Given the description of an element on the screen output the (x, y) to click on. 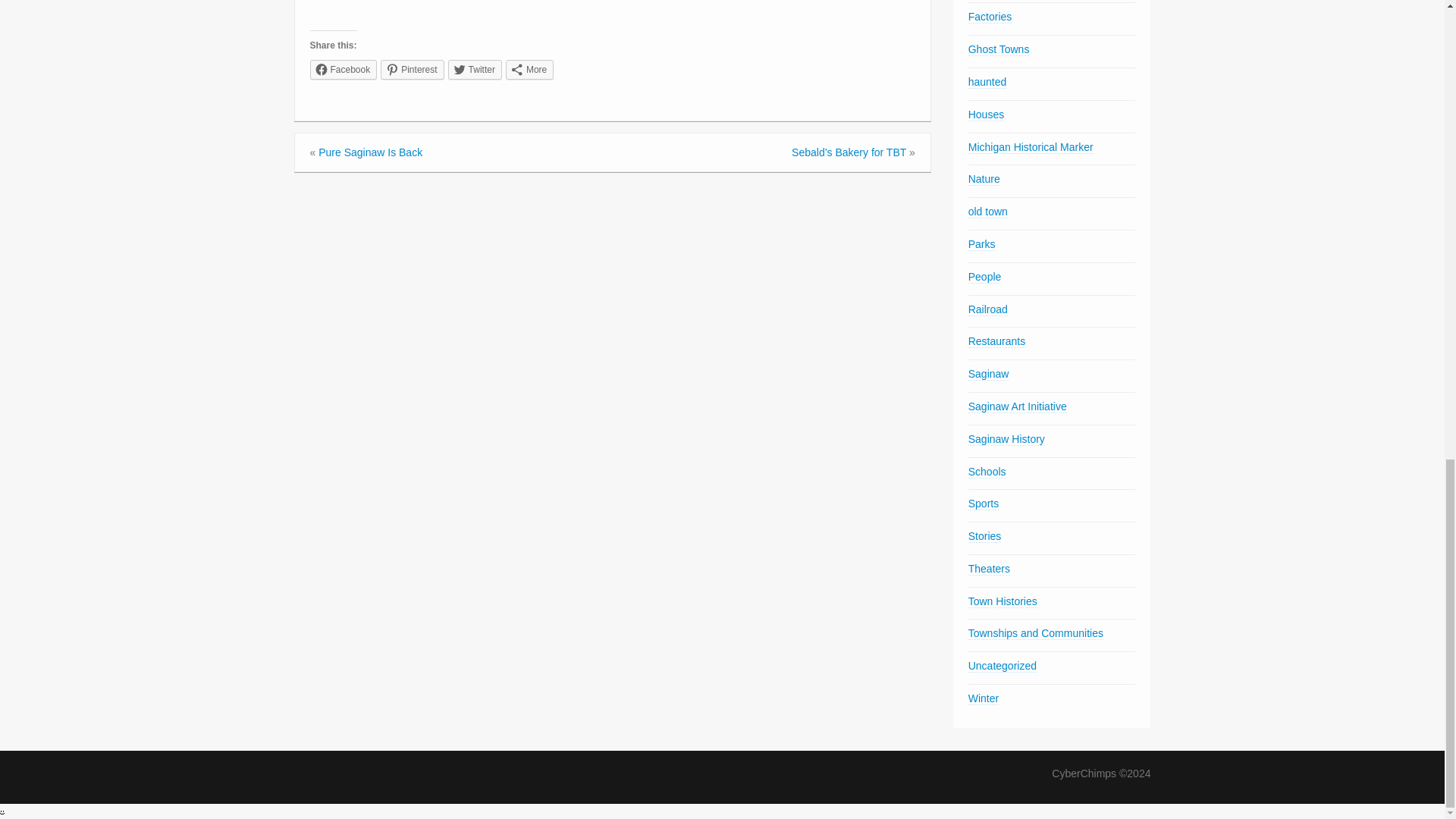
Click to share on Twitter (475, 69)
Pure Saginaw Is Back (370, 152)
Click to share on Facebook (342, 69)
Twitter (475, 69)
More (529, 69)
Click to share on Pinterest (412, 69)
Pinterest (412, 69)
Facebook (342, 69)
